Given the description of an element on the screen output the (x, y) to click on. 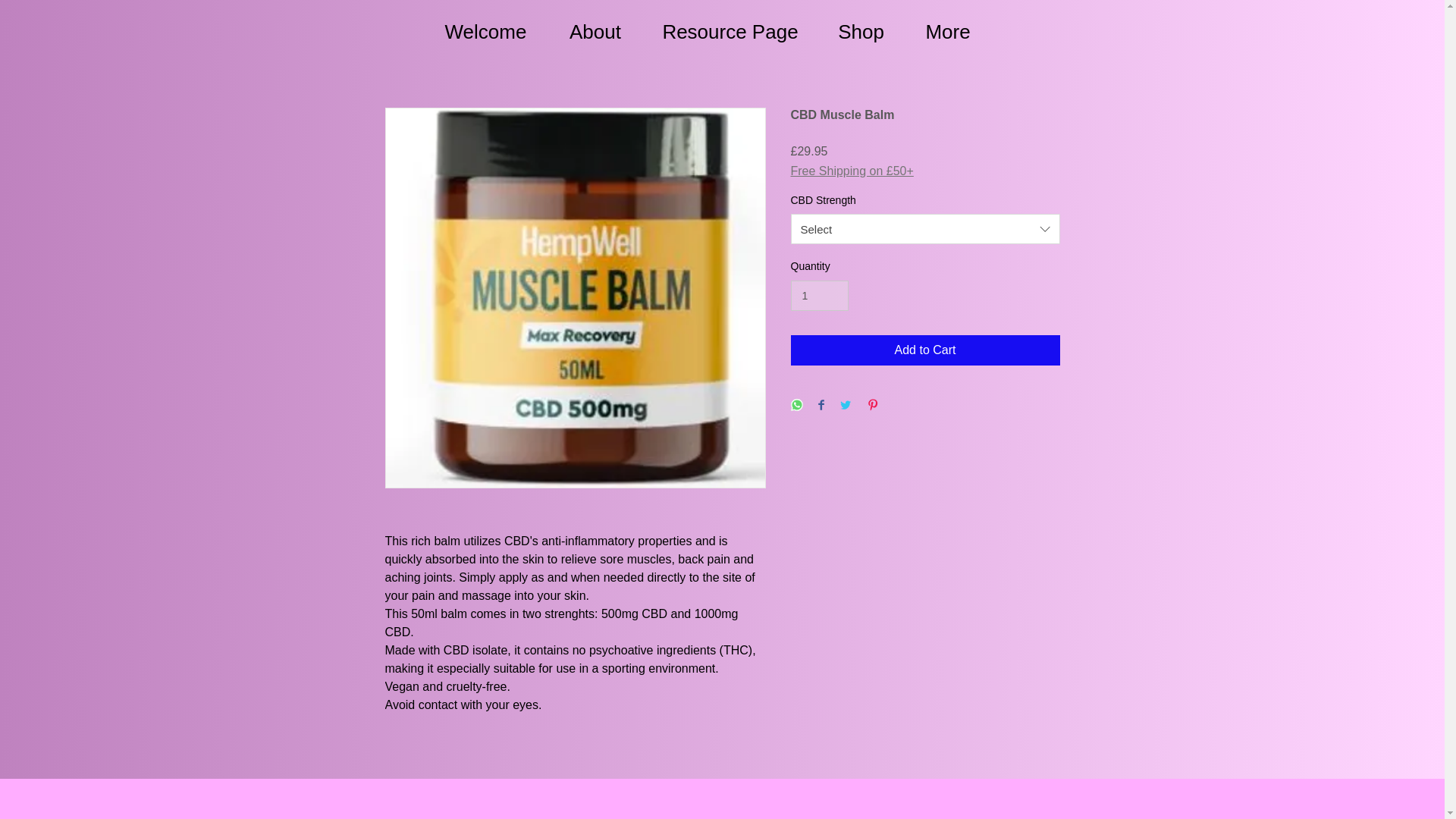
About (594, 30)
Welcome (485, 30)
Shop (860, 30)
Add to Cart (924, 349)
1 (818, 296)
Resource Page (730, 30)
Select (924, 228)
